Given the description of an element on the screen output the (x, y) to click on. 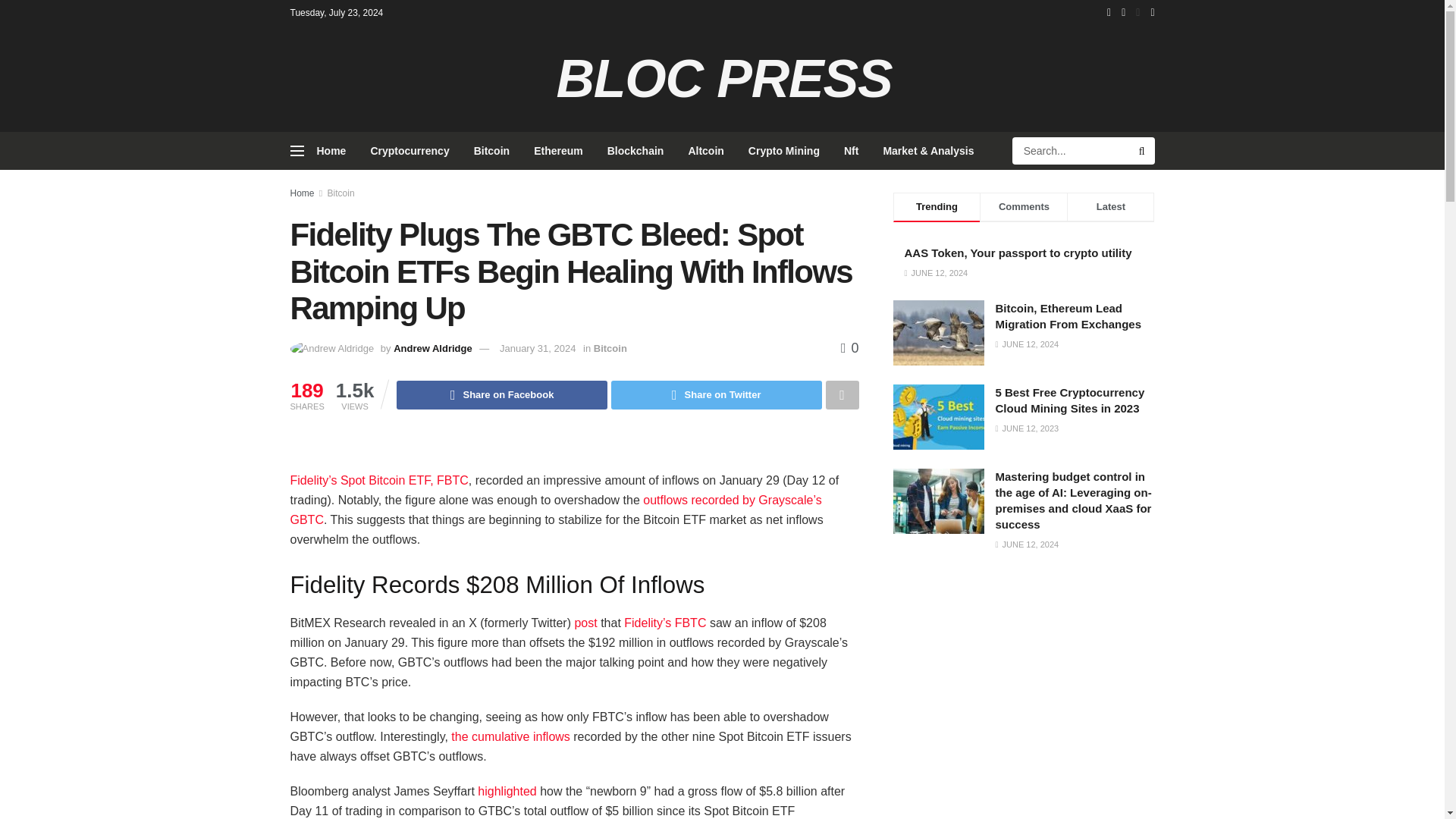
Bitcoin (491, 150)
Bitcoin (341, 193)
January 31, 2024 (537, 348)
BLOC PRESS (721, 78)
Bitcoin (610, 348)
the cumulative inflows (510, 736)
Ethereum (558, 150)
Home (301, 193)
Home (331, 150)
Blockchain (636, 150)
Andrew Aldridge (432, 348)
Nft (850, 150)
0 (850, 347)
Share on Facebook (501, 394)
Crypto Mining (783, 150)
